Given the description of an element on the screen output the (x, y) to click on. 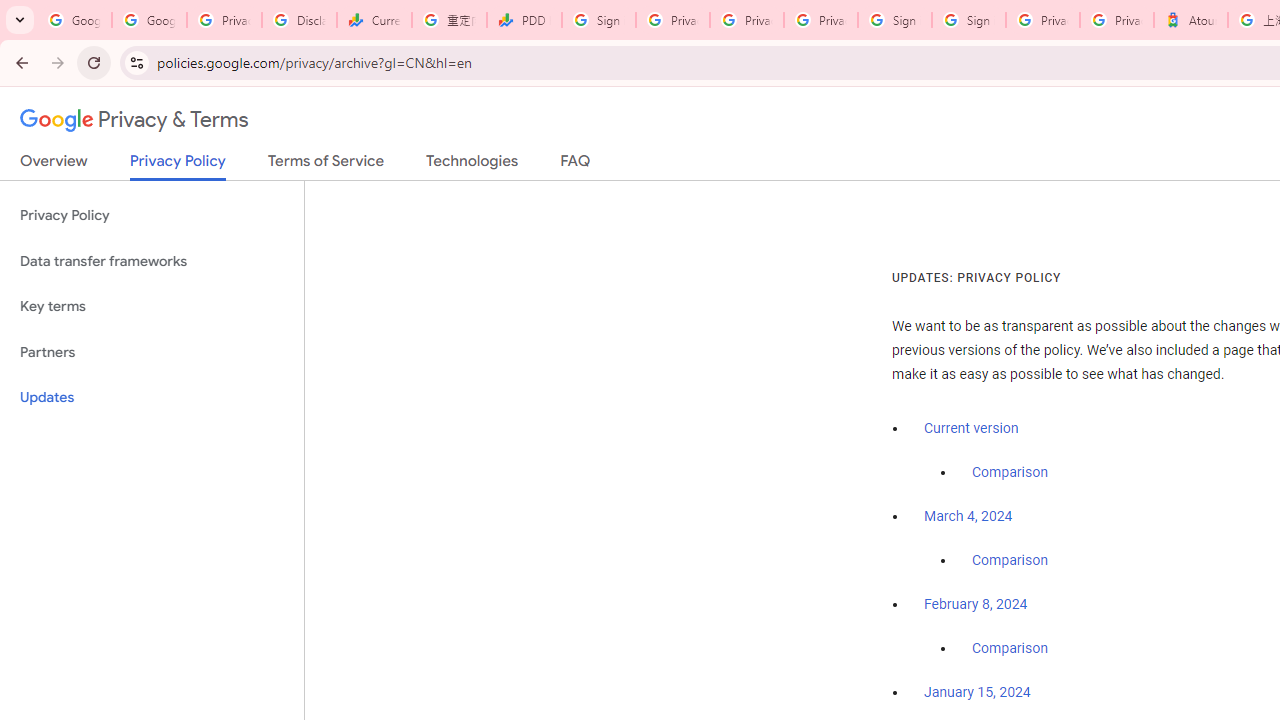
Google Workspace Admin Community (74, 20)
January 15, 2024 (977, 693)
PDD Holdings Inc - ADR (PDD) Price & News - Google Finance (523, 20)
Sign in - Google Accounts (894, 20)
Privacy Checkup (820, 20)
Currencies - Google Finance (374, 20)
Current version (971, 428)
Atour Hotel - Google hotels (1190, 20)
